Given the description of an element on the screen output the (x, y) to click on. 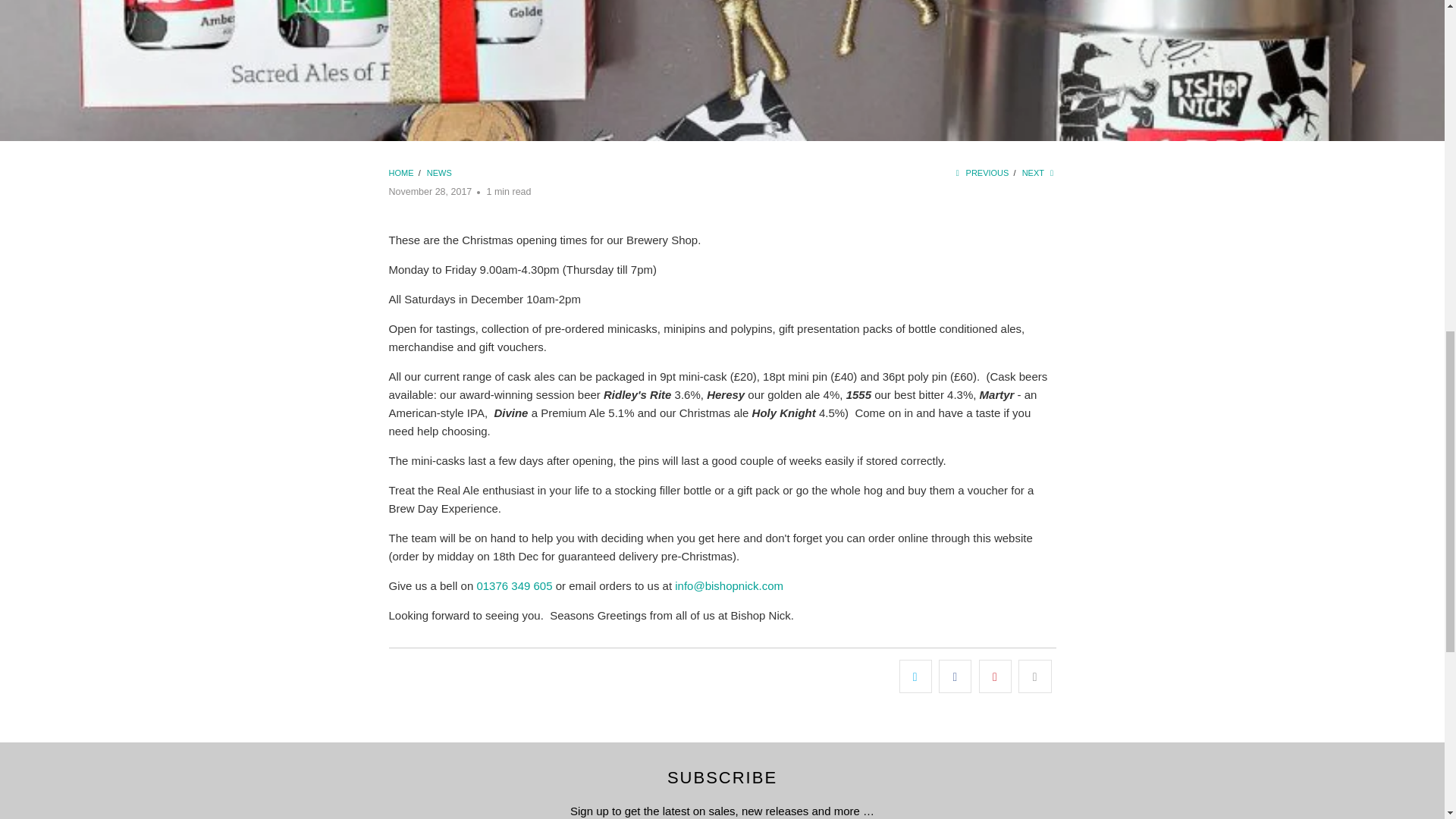
Share this on Facebook (955, 676)
News (438, 172)
Share this on Twitter (915, 676)
Share this on Pinterest (994, 676)
Bishop Nick (401, 172)
